Given the description of an element on the screen output the (x, y) to click on. 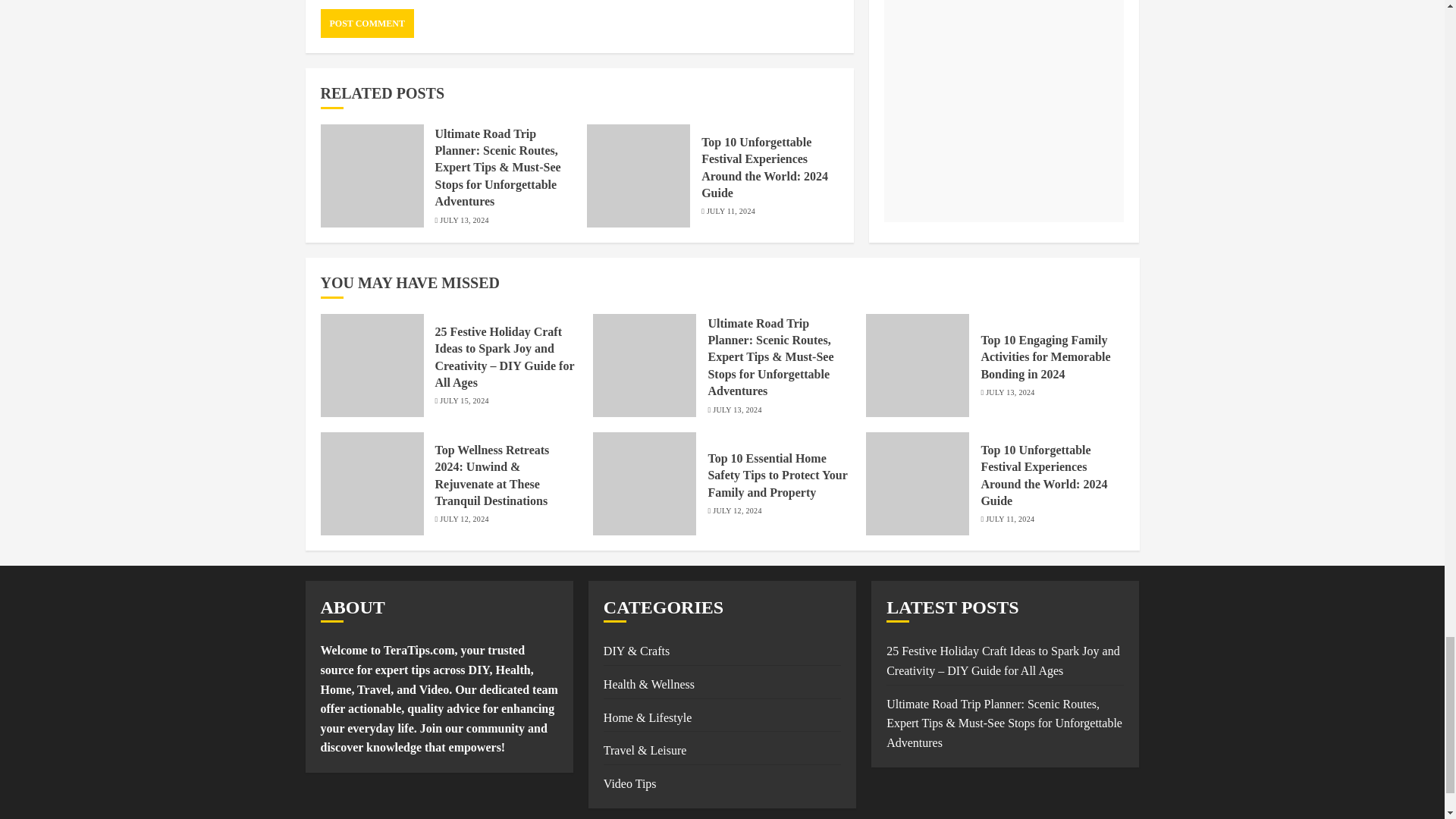
Post Comment (366, 23)
JULY 13, 2024 (463, 220)
JULY 11, 2024 (730, 211)
Post Comment (366, 23)
